Given the description of an element on the screen output the (x, y) to click on. 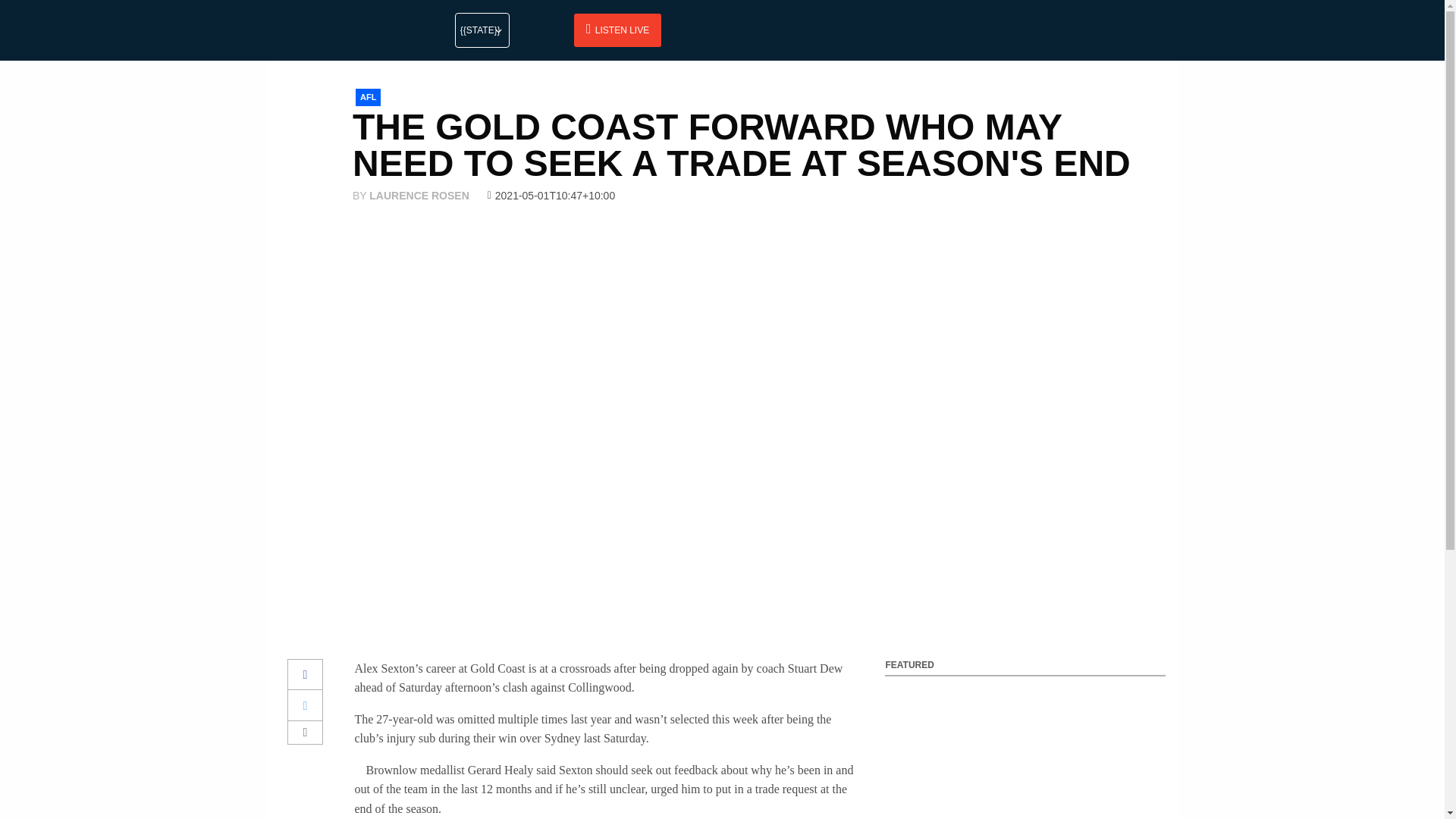
LISTEN LIVE (617, 30)
AFL (367, 97)
Tweet (305, 705)
Share on Facebook (305, 675)
